Given the description of an element on the screen output the (x, y) to click on. 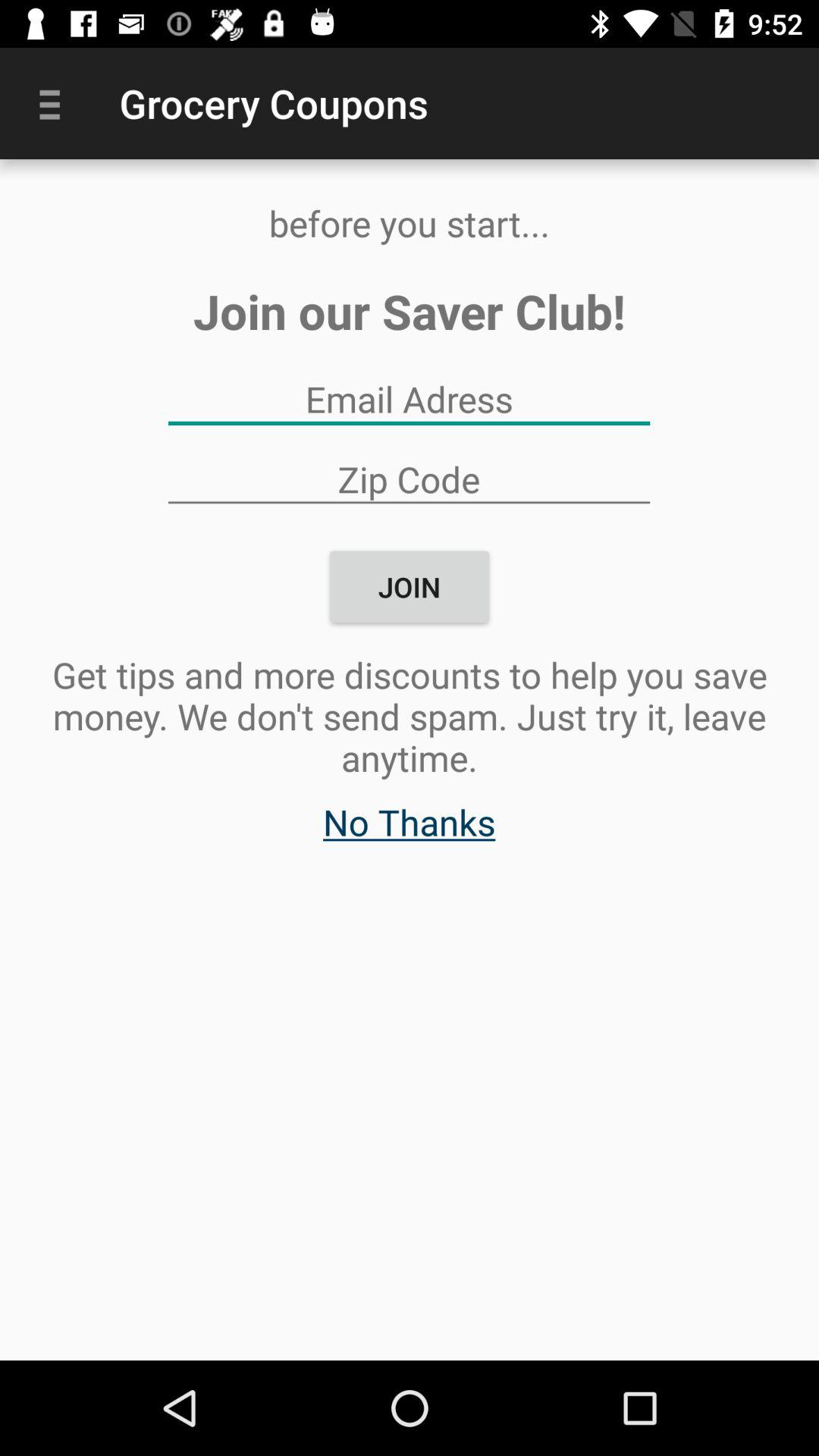
enter zip code (409, 479)
